Given the description of an element on the screen output the (x, y) to click on. 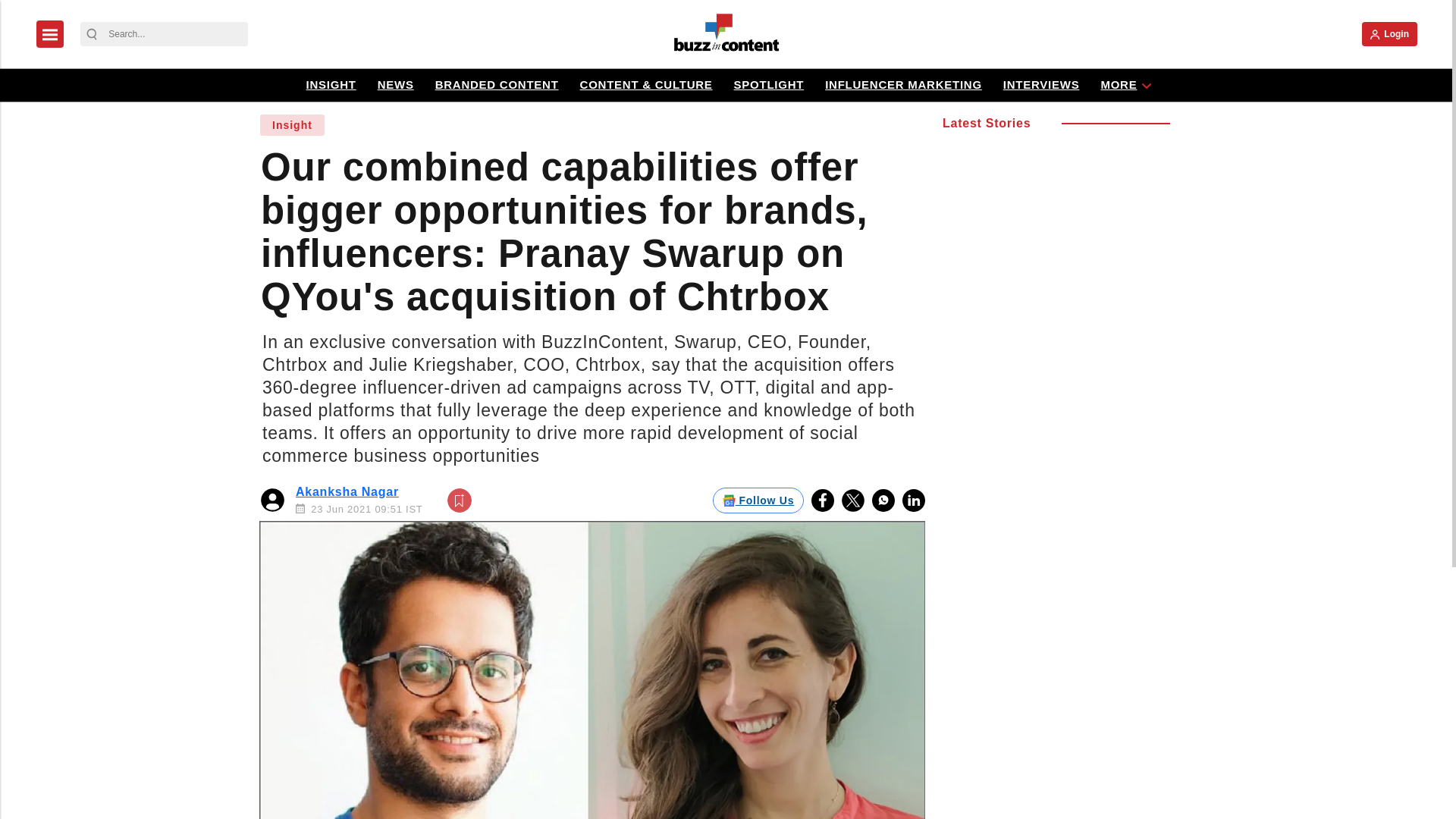
Login (1388, 33)
MORE (1117, 84)
Insight (291, 124)
BRANDED CONTENT (496, 84)
SPOTLIGHT (769, 84)
Follow Us (758, 499)
Akanksha Nagar (346, 491)
INSIGHT (331, 84)
INTERVIEWS (1040, 84)
NEWS (395, 84)
INFLUENCER MARKETING (903, 84)
